Given the description of an element on the screen output the (x, y) to click on. 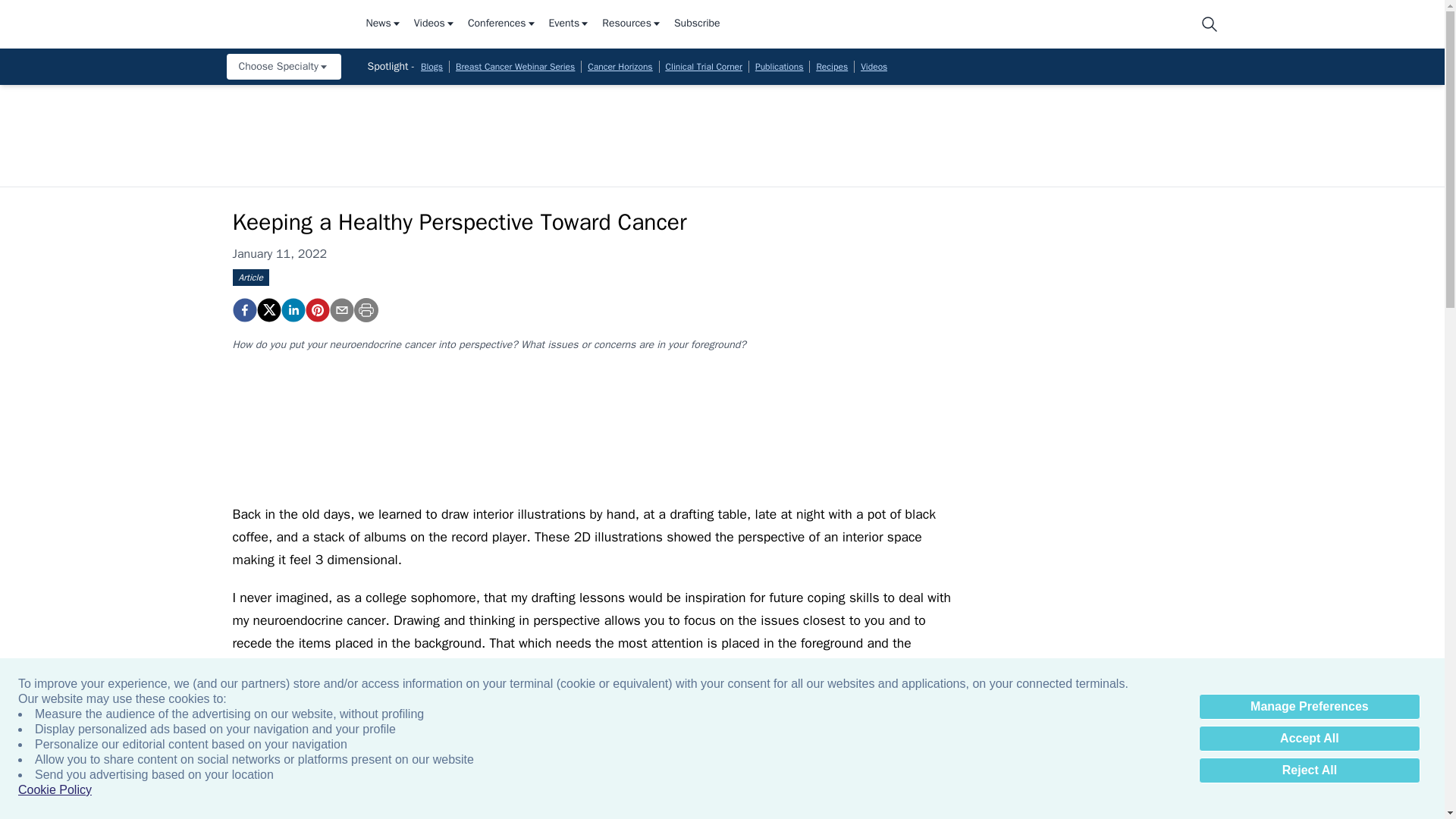
Manage Preferences (1309, 706)
Events (569, 23)
News (383, 23)
Accept All (1309, 738)
Resources (632, 23)
Reject All (1309, 769)
Conferences (502, 23)
Keeping a Healthy Perspective Toward Cancer (243, 310)
Keeping a Healthy Perspective Toward Cancer (316, 310)
Videos (434, 23)
